Given the description of an element on the screen output the (x, y) to click on. 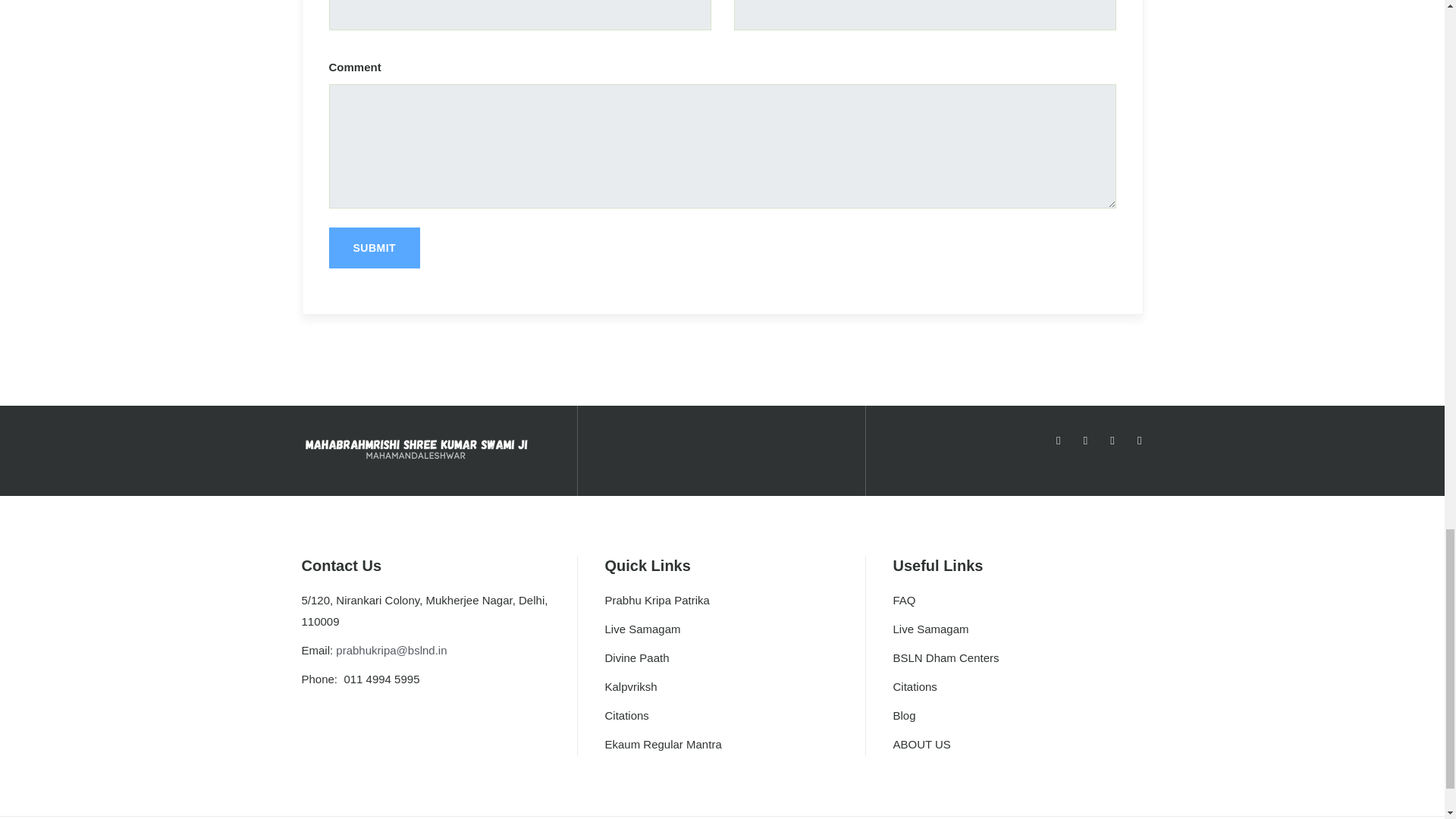
Live Samagam (641, 628)
SUBMIT (374, 247)
Prabhu Kripa Patrika (656, 599)
